Given the description of an element on the screen output the (x, y) to click on. 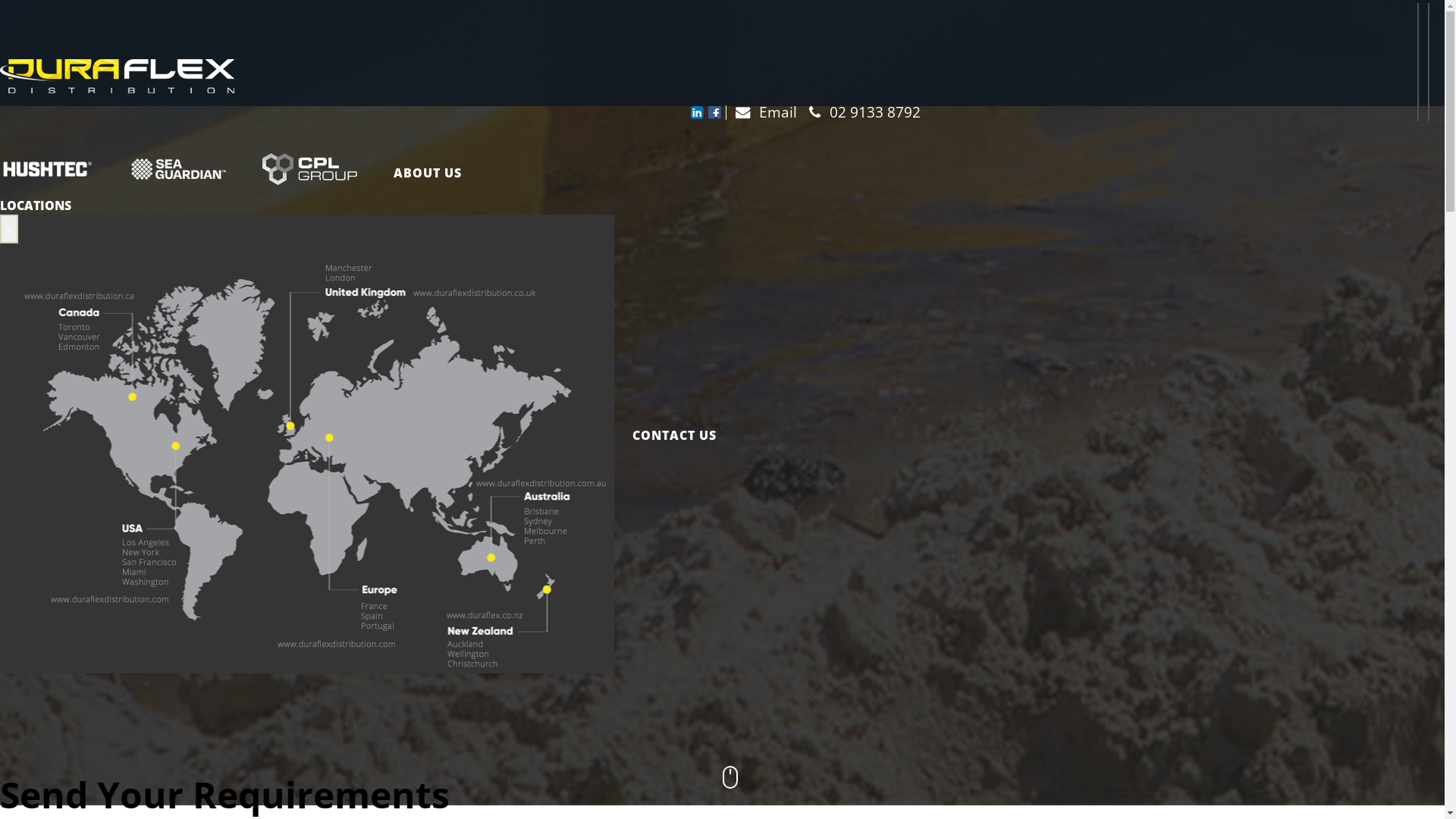
LOCATIONS Element type: text (35, 205)
02 9133 8792 Element type: text (860, 111)
ABOUT US Element type: text (427, 171)
GREENTEC ENVIRONMENTAL AU Element type: text (178, 172)
Email Element type: text (761, 111)
CONTACT US Element type: text (665, 434)
SMARTEC SOLUTIONS AU Element type: text (309, 172)
HUSHTEC NOISE CONTROL SOLUTIONS Element type: text (56, 171)
